Given the description of an element on the screen output the (x, y) to click on. 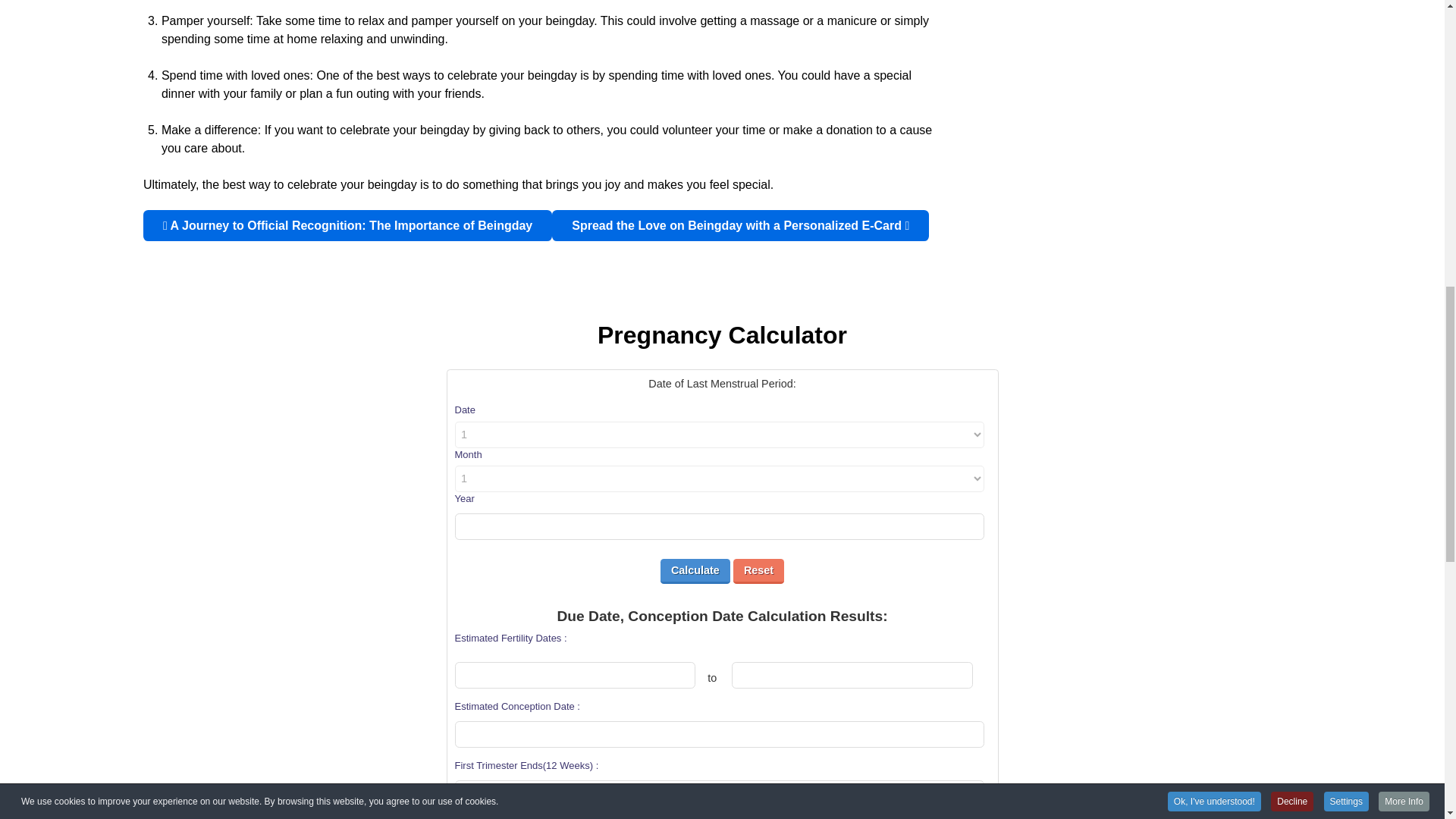
Calculate (695, 570)
Reset (758, 570)
